Given the description of an element on the screen output the (x, y) to click on. 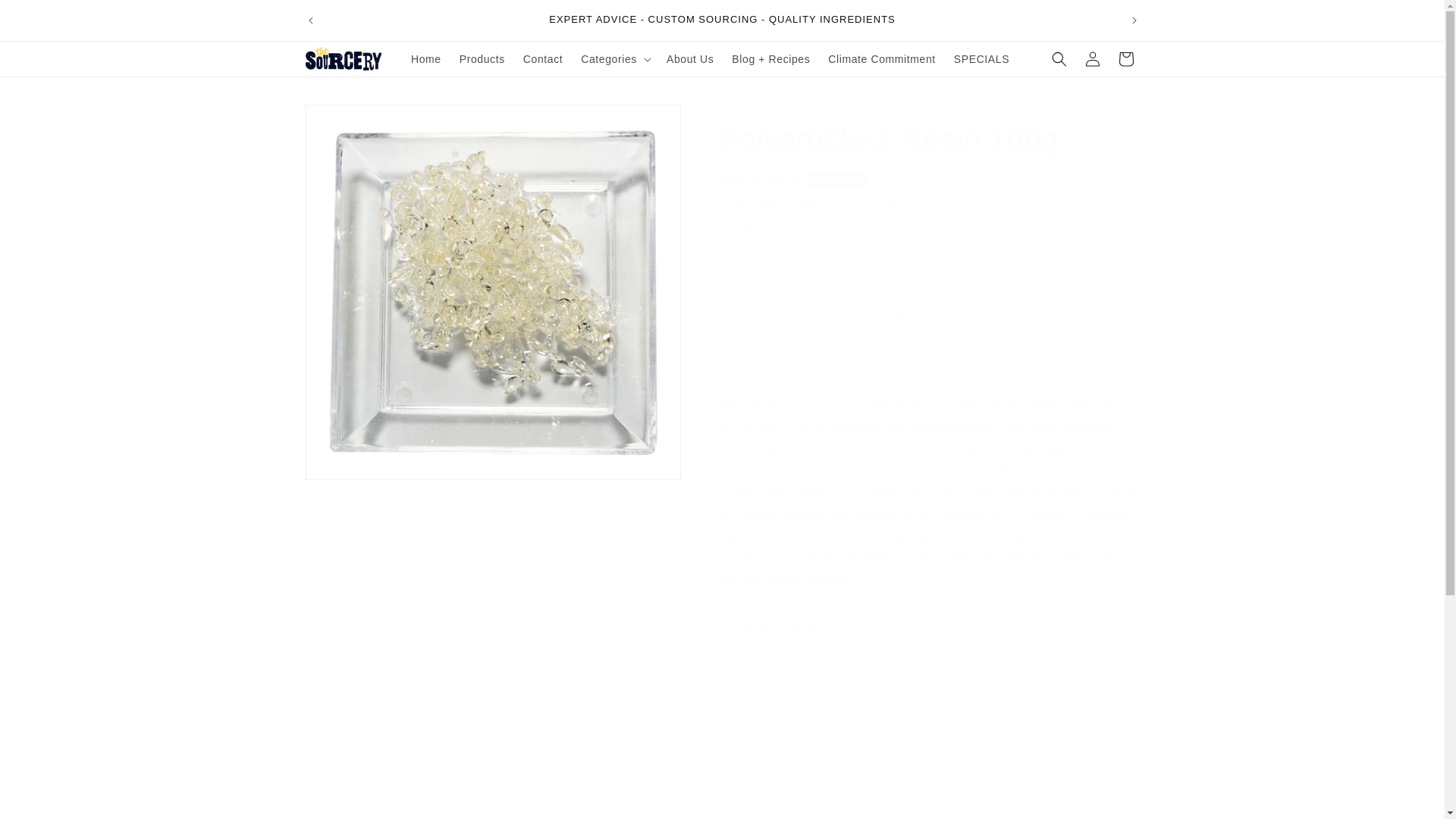
Skip to content (45, 17)
1 (773, 259)
